Given the description of an element on the screen output the (x, y) to click on. 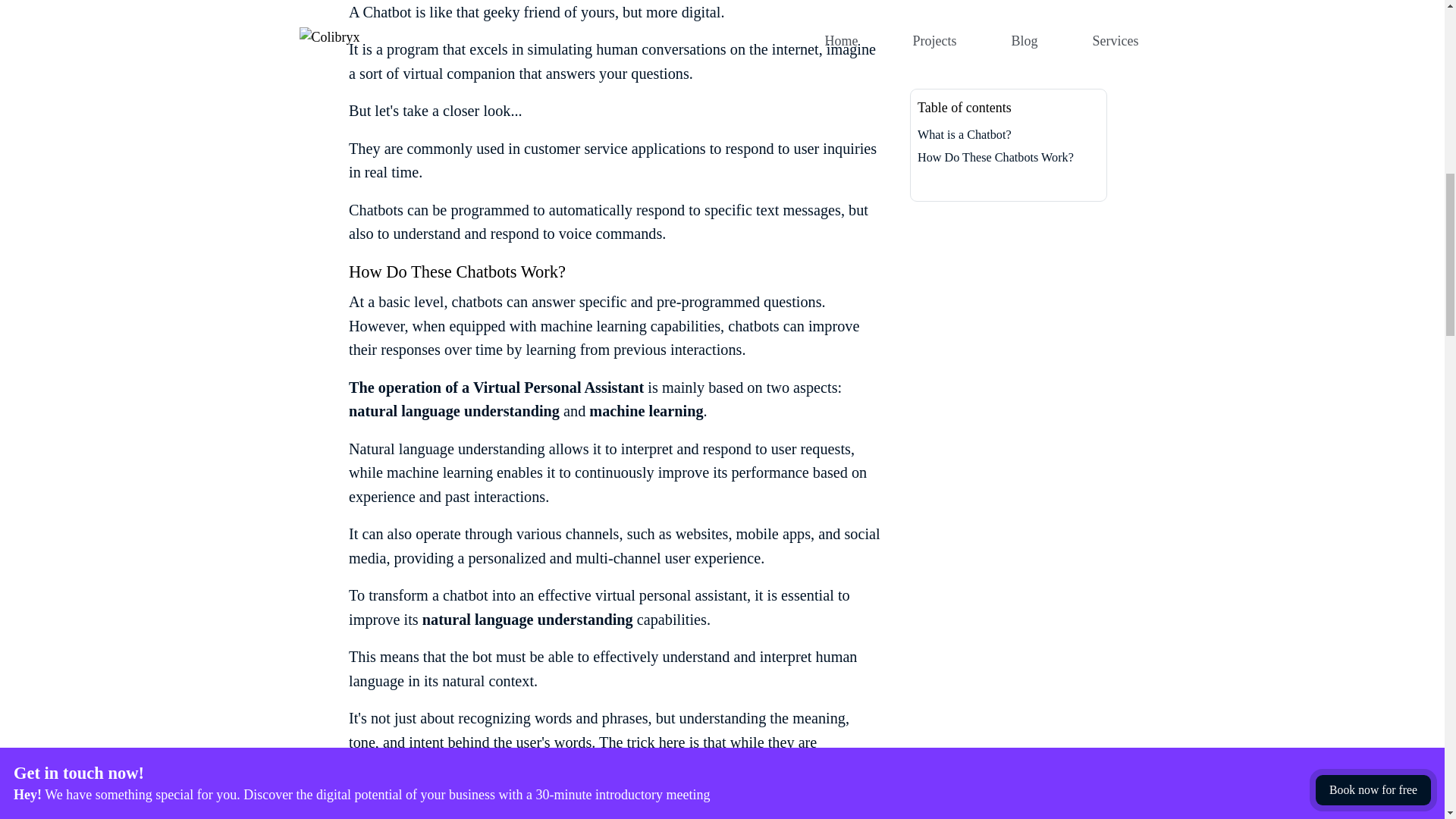
How Do These Chatbots Work? (1008, 32)
How Do These Chatbots Work? (457, 271)
What is a Chatbot? (1008, 9)
